Given the description of an element on the screen output the (x, y) to click on. 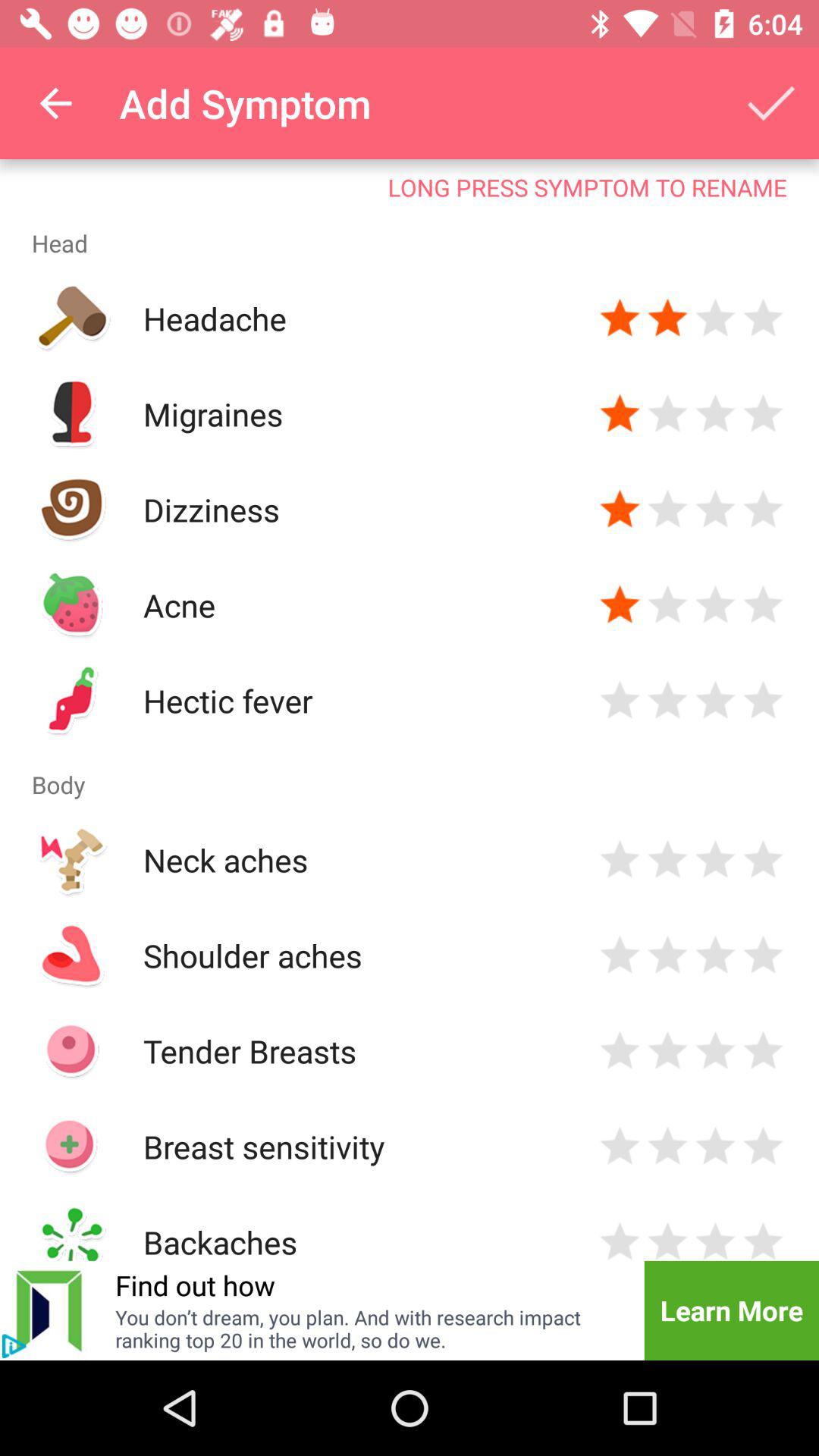
give a star rating (667, 509)
